Given the description of an element on the screen output the (x, y) to click on. 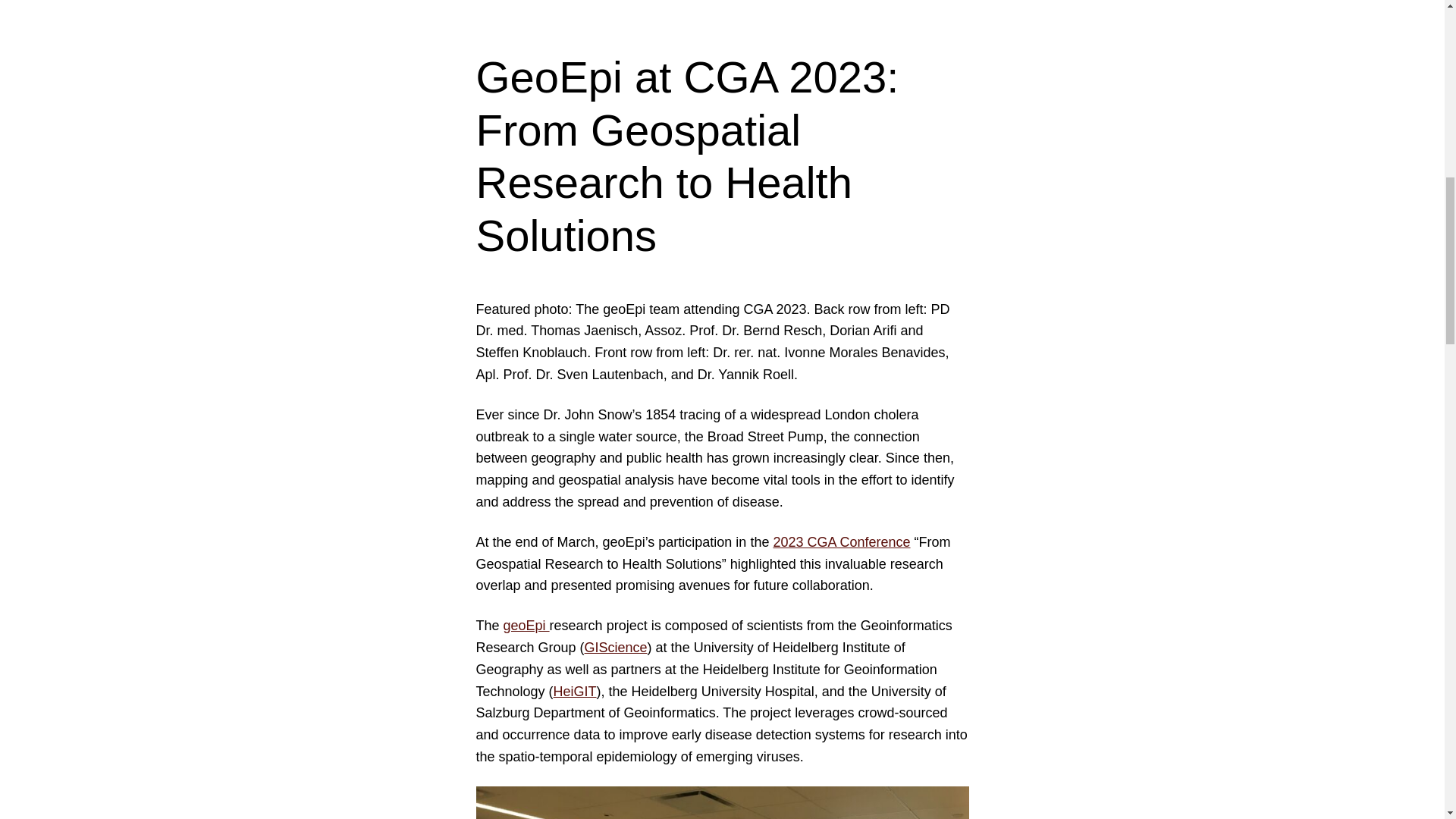
GIScience (616, 647)
2023 CGA Conference (841, 541)
geoEpi (526, 625)
HeiGIT (574, 691)
